Given the description of an element on the screen output the (x, y) to click on. 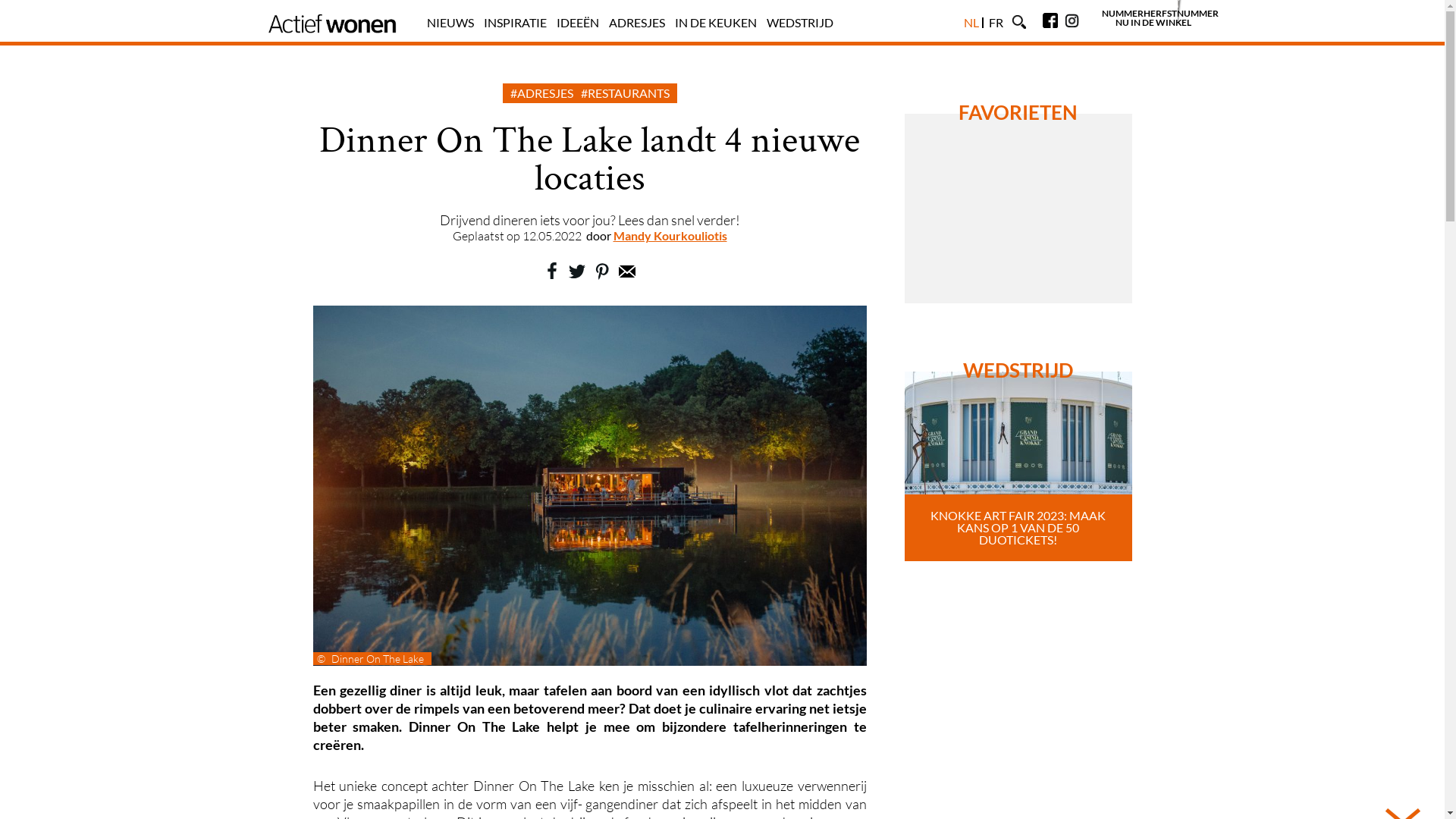
IN DE KEUKEN Element type: text (715, 22)
KNOKKE ART FAIR 2023: MAAK KANS OP 1 VAN DE 50 DUOTICKETS! Element type: text (1017, 466)
FR
FR Element type: text (995, 21)
ADRESJES Element type: text (636, 22)
NL
NL Element type: text (970, 21)
Mandy Kourkouliotis Element type: text (669, 235)
#RESTAURANTS Element type: text (624, 92)
NIEUWS Element type: text (449, 22)
#ADRESJES Element type: text (540, 92)
INSPIRATIE Element type: text (514, 22)
WEDSTRIJD Element type: text (798, 22)
